Given the description of an element on the screen output the (x, y) to click on. 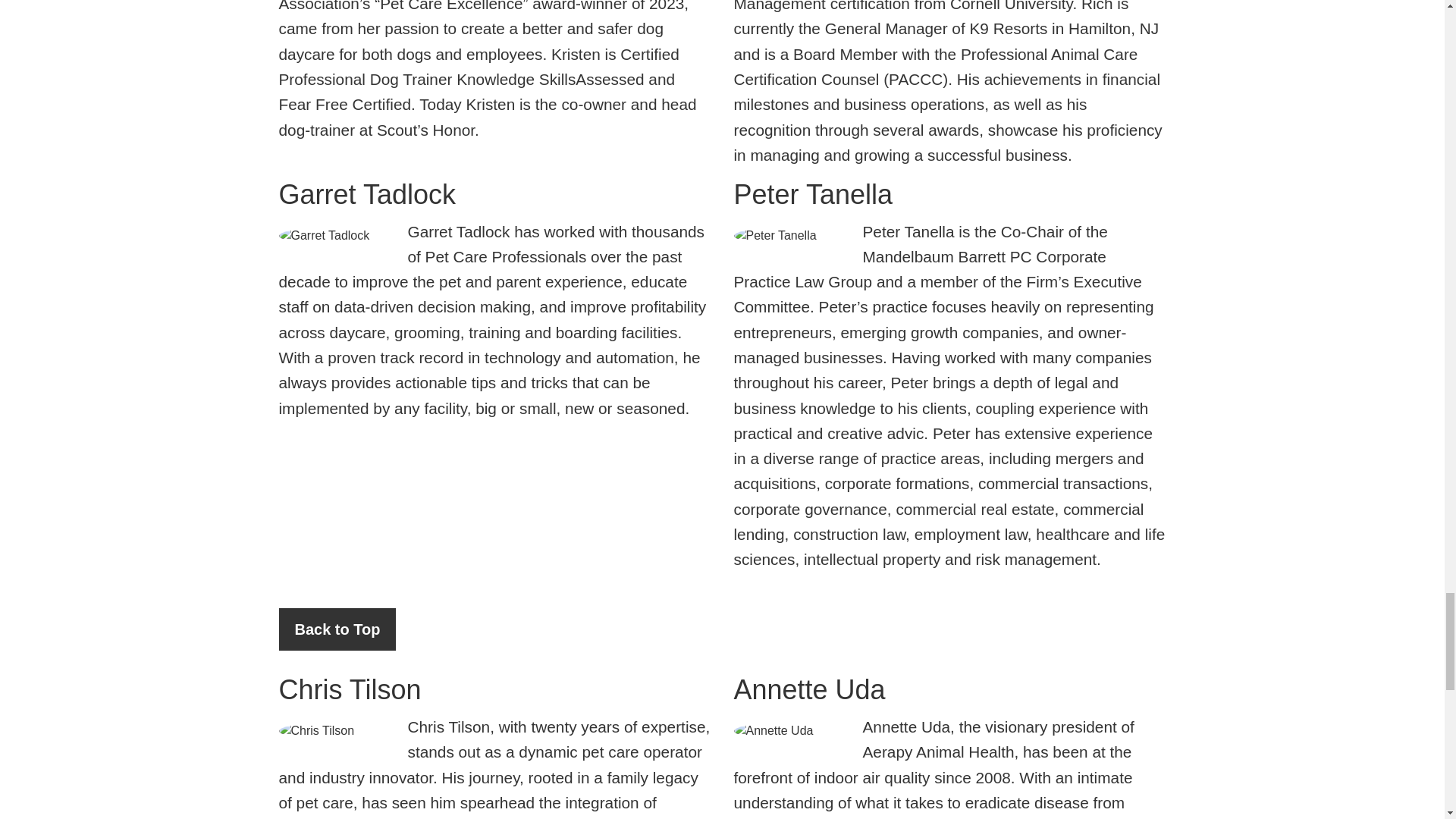
Back to Top (337, 629)
